Given the description of an element on the screen output the (x, y) to click on. 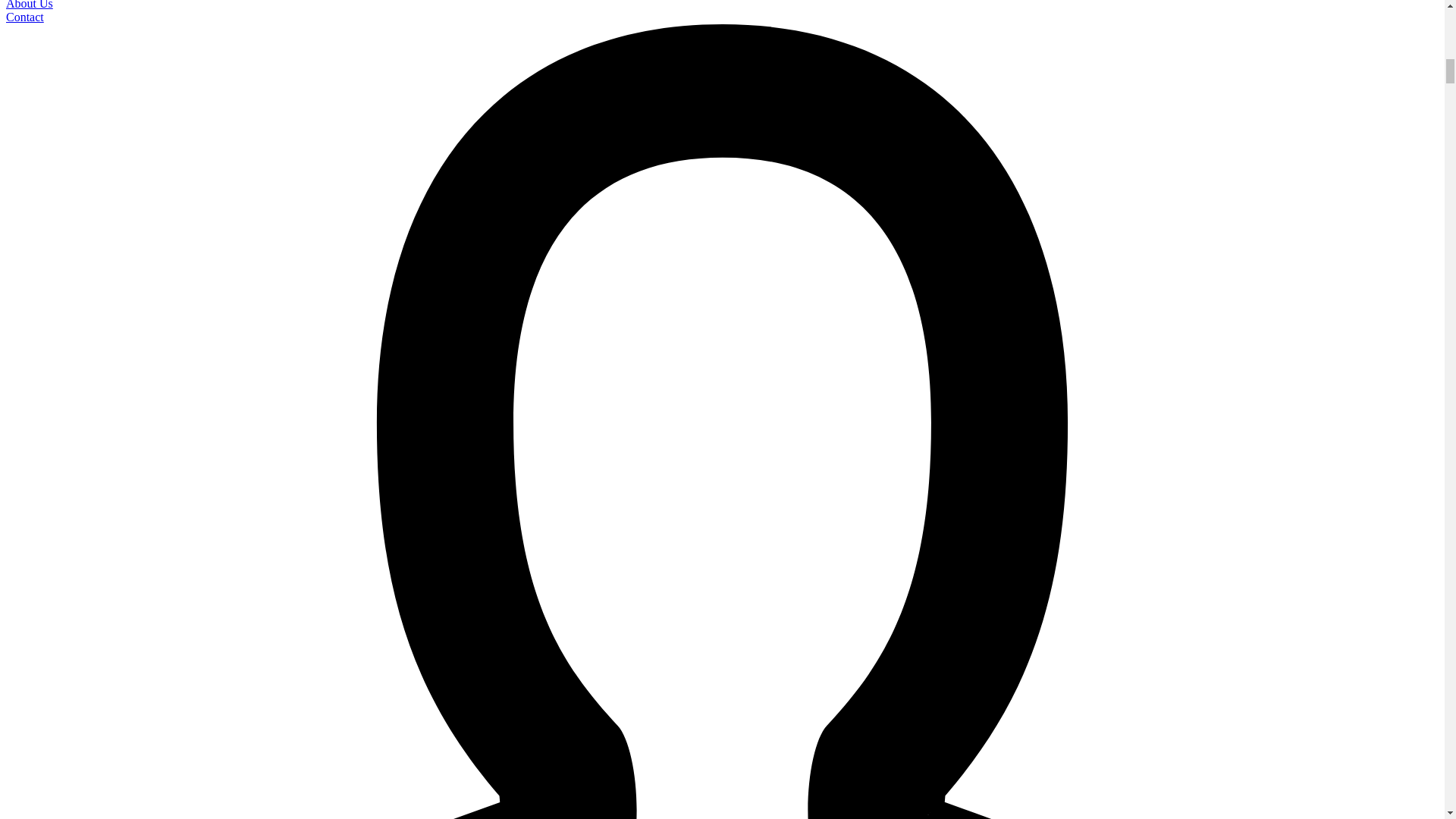
About Us (28, 4)
Contact (24, 16)
